Given the description of an element on the screen output the (x, y) to click on. 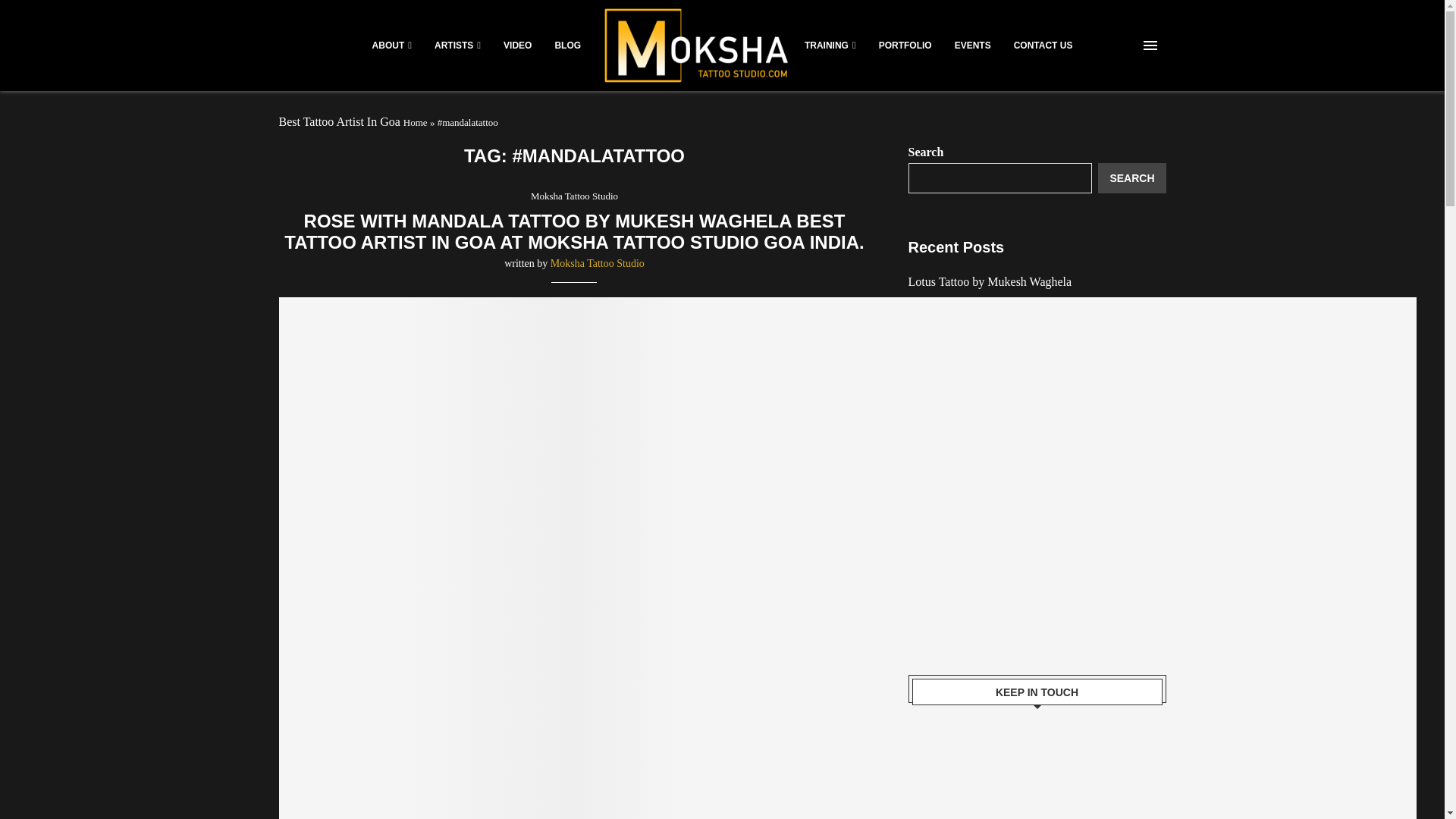
ARTISTS (456, 45)
TRAINING (830, 45)
PORTFOLIO (905, 45)
ABOUT (392, 45)
